Given the description of an element on the screen output the (x, y) to click on. 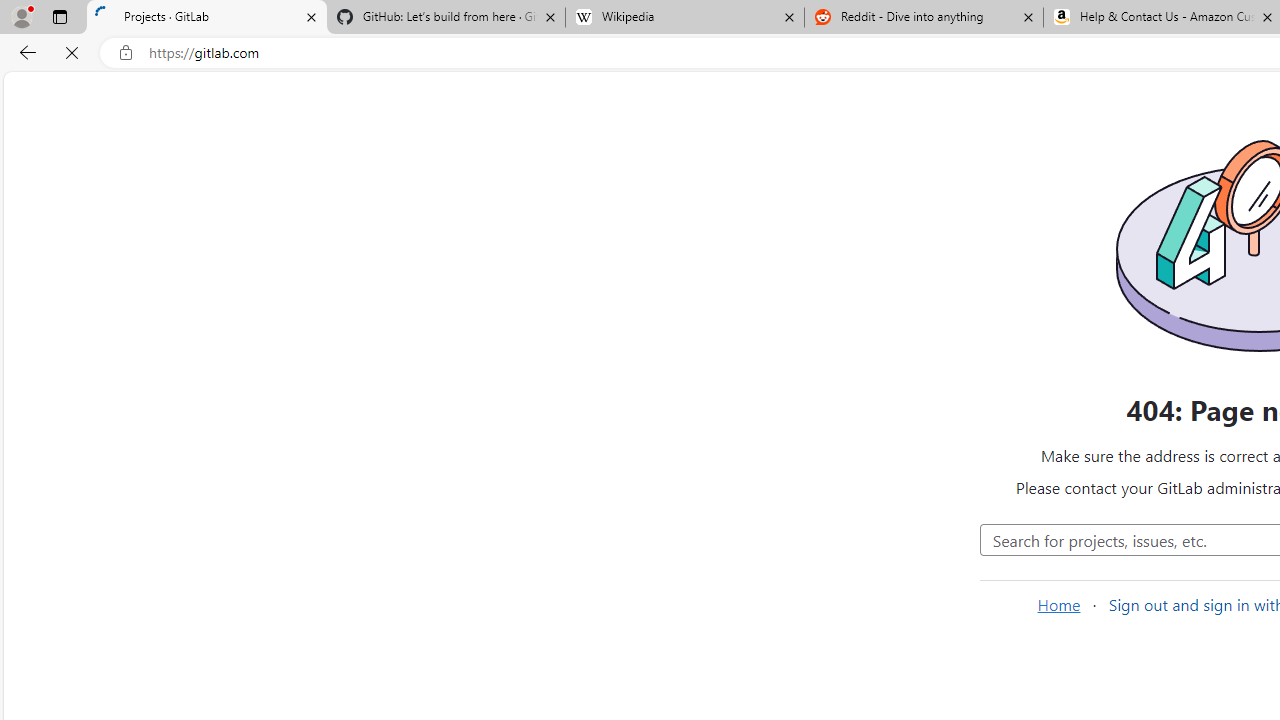
1 / 1 (840, 518)
Security (130, 633)
Create new... (201, 96)
Environments (130, 564)
Reddit - Dive into anything (924, 17)
Operations (130, 599)
Homepage (27, 96)
Projects (384, 95)
Groups (130, 291)
Primary navigation sidebar (167, 96)
Inactive (1067, 389)
Snippets (130, 463)
